Given the description of an element on the screen output the (x, y) to click on. 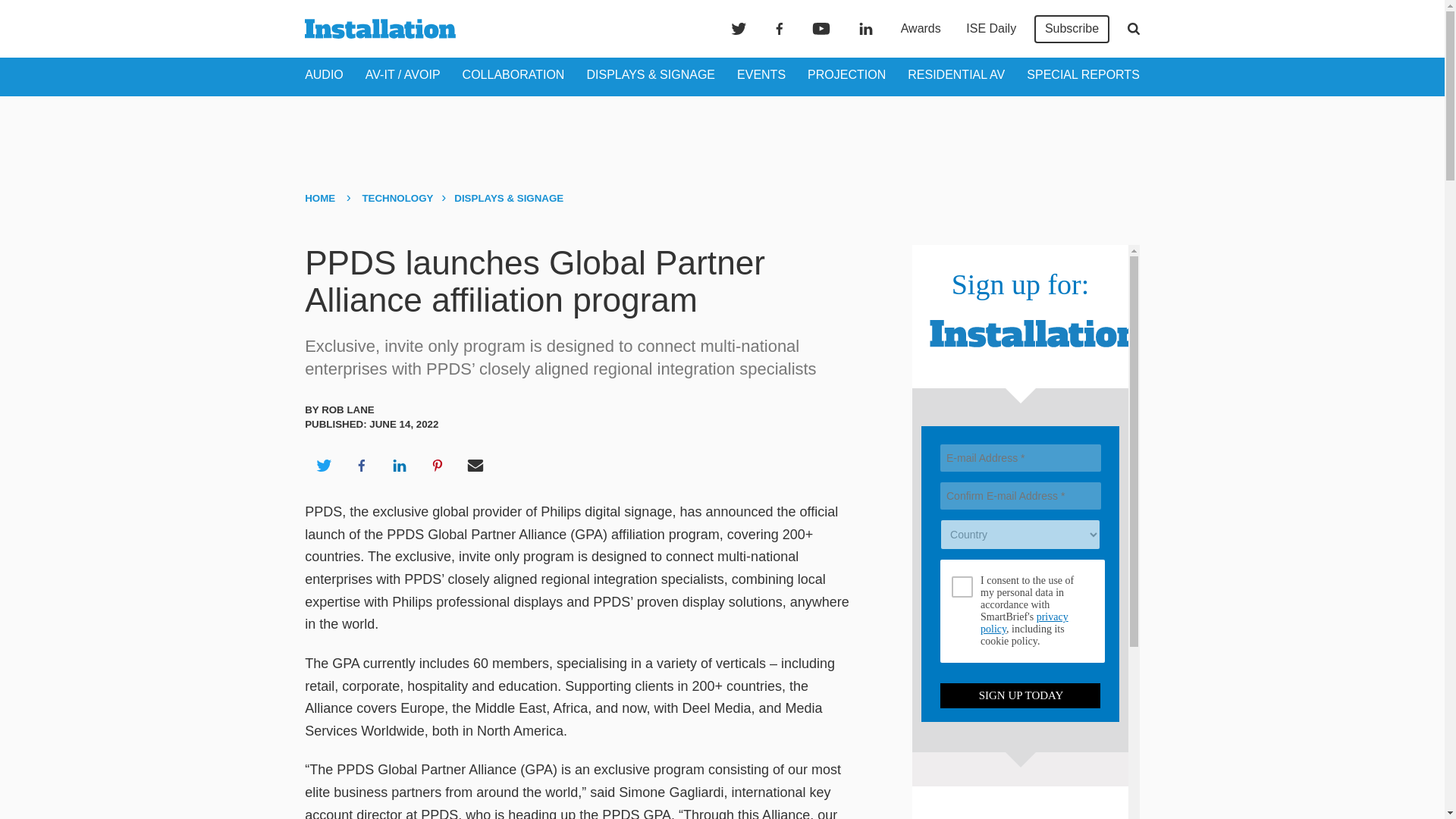
Share on Pinterest (438, 465)
Awards (921, 29)
Subscribe (1071, 29)
AUDIO (323, 74)
Rob Lane's Author Profile (347, 409)
Share on LinkedIn (399, 465)
Share on Twitter (323, 465)
ISE Daily (990, 29)
Share on Facebook (361, 465)
COLLABORATION (513, 74)
Share via Email (476, 465)
